Given the description of an element on the screen output the (x, y) to click on. 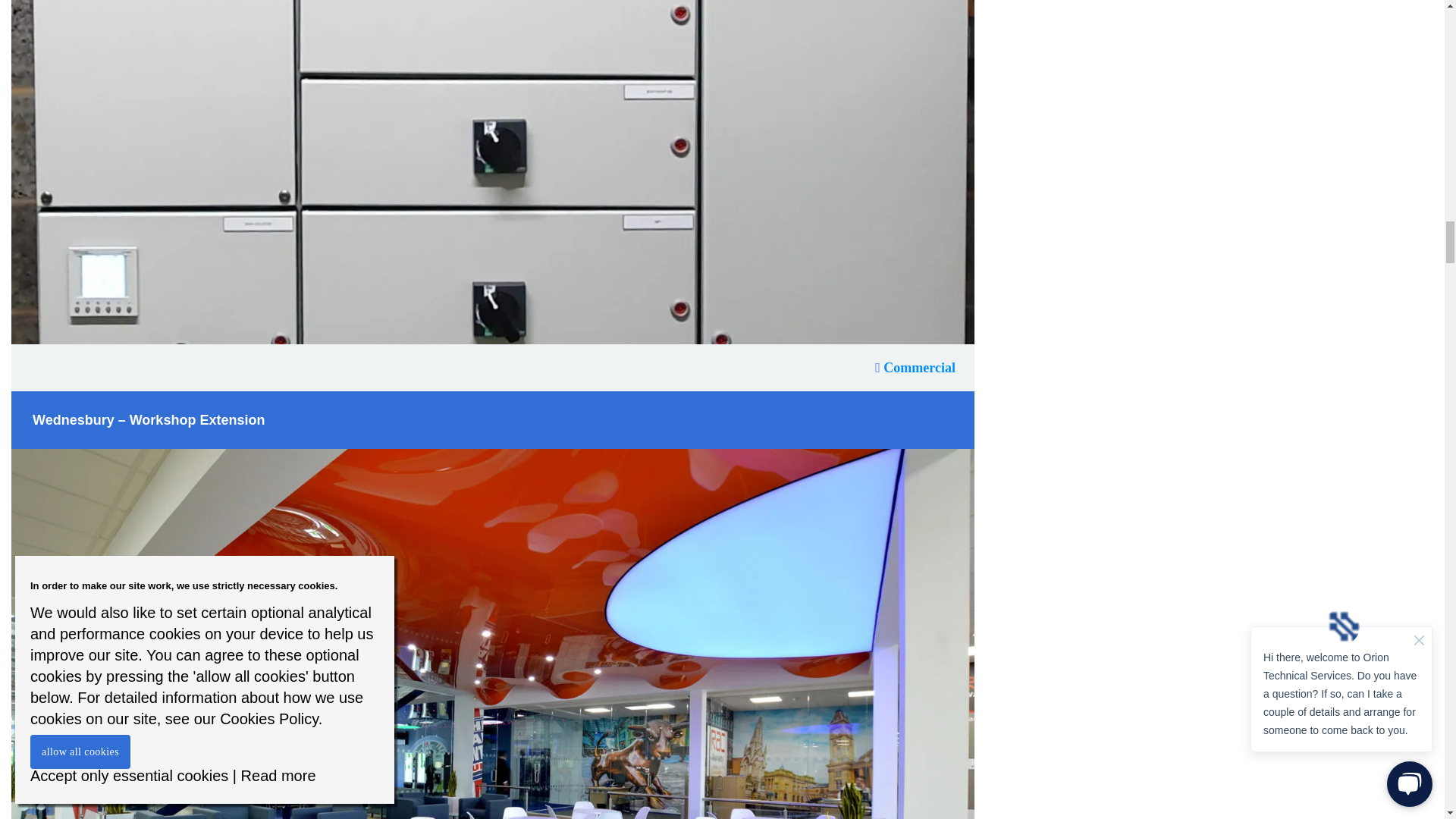
Commercial (915, 367)
